Given the description of an element on the screen output the (x, y) to click on. 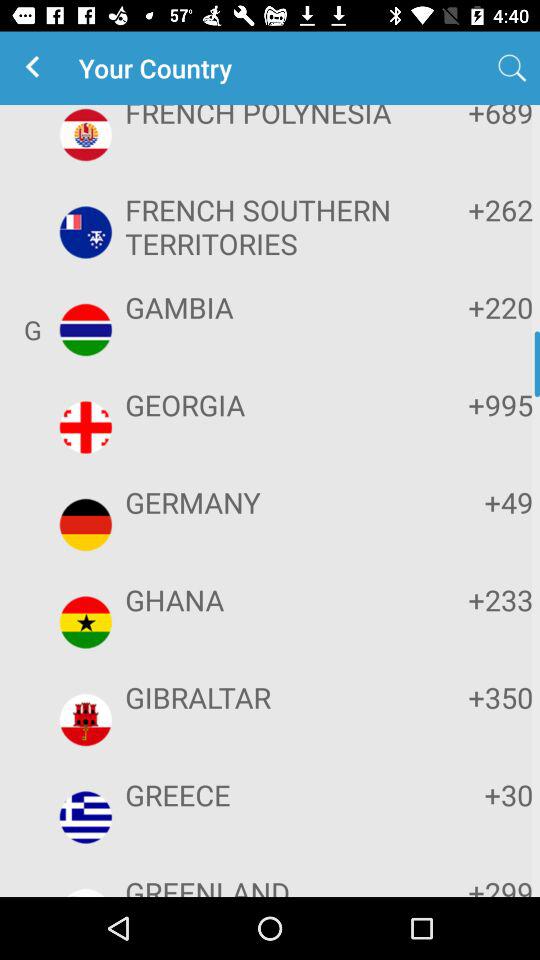
tap the item to the left of the +220 (267, 307)
